Given the description of an element on the screen output the (x, y) to click on. 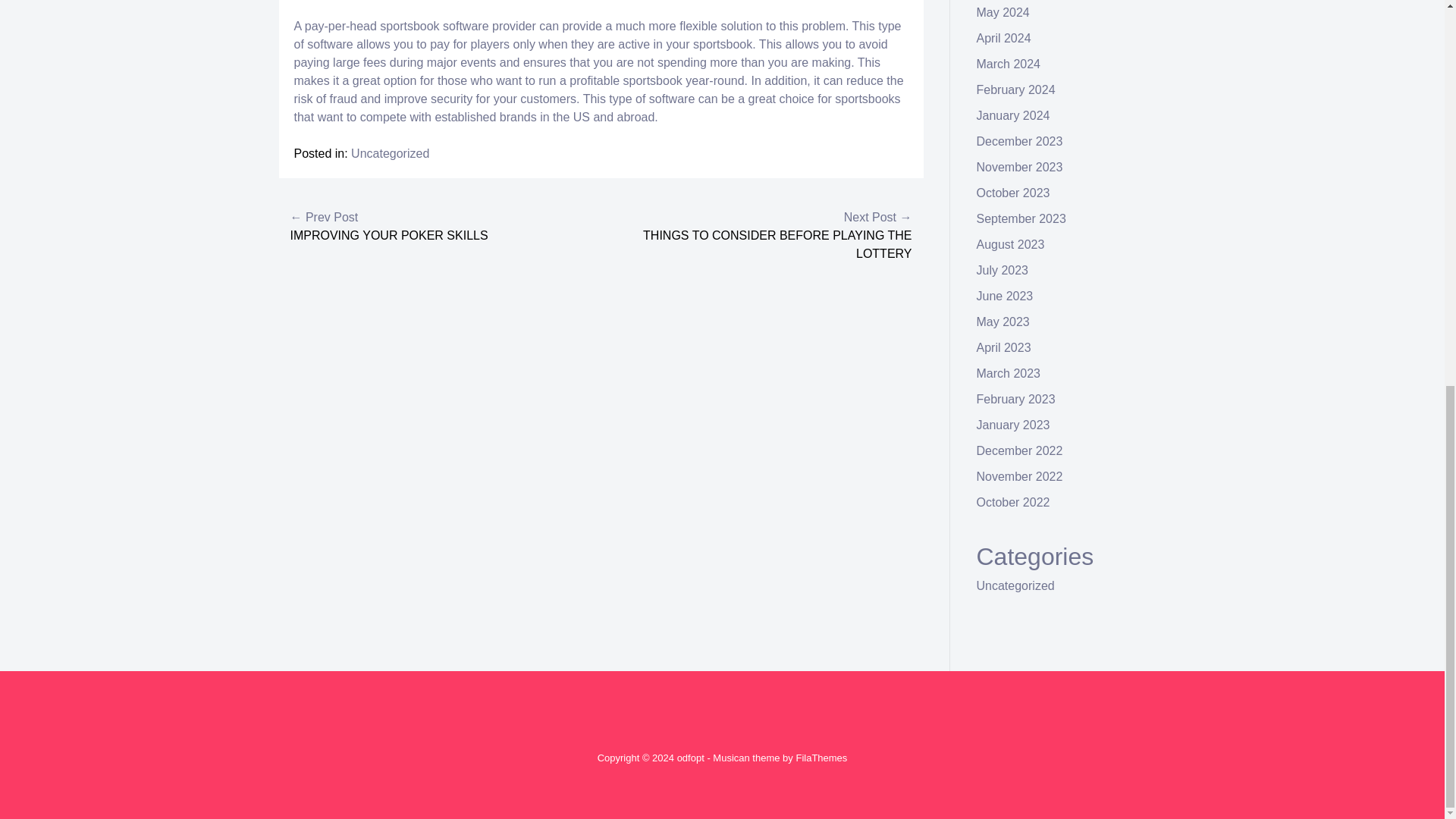
odfopt (690, 757)
Uncategorized (389, 153)
March 2024 (1008, 63)
December 2023 (1019, 141)
January 2024 (1012, 115)
April 2024 (1003, 38)
February 2024 (1015, 89)
May 2024 (1002, 11)
